Given the description of an element on the screen output the (x, y) to click on. 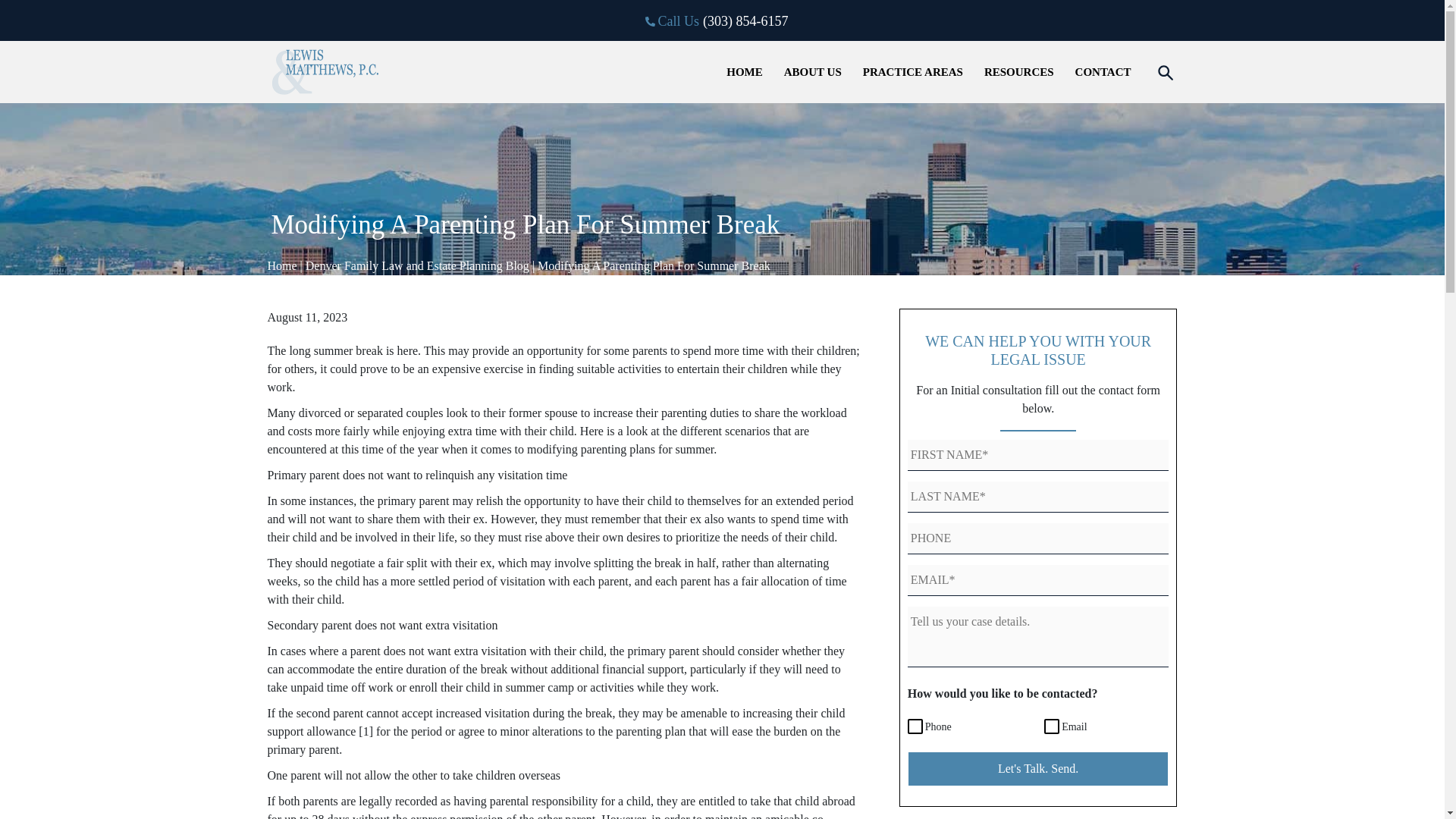
Contact a Denver Divorce Lawyer (1103, 72)
Open search (1164, 71)
Divorce Attorney Denver (744, 72)
Family Law Firms Denver (812, 72)
PRACTICE AREAS (912, 72)
RESOURCES (1018, 72)
CONTACT (1103, 72)
HOME (744, 72)
Denver Family Law Practice Areas (912, 72)
Go (413, 71)
ABOUT US (812, 72)
Let's Talk. Send. (1038, 768)
